Given the description of an element on the screen output the (x, y) to click on. 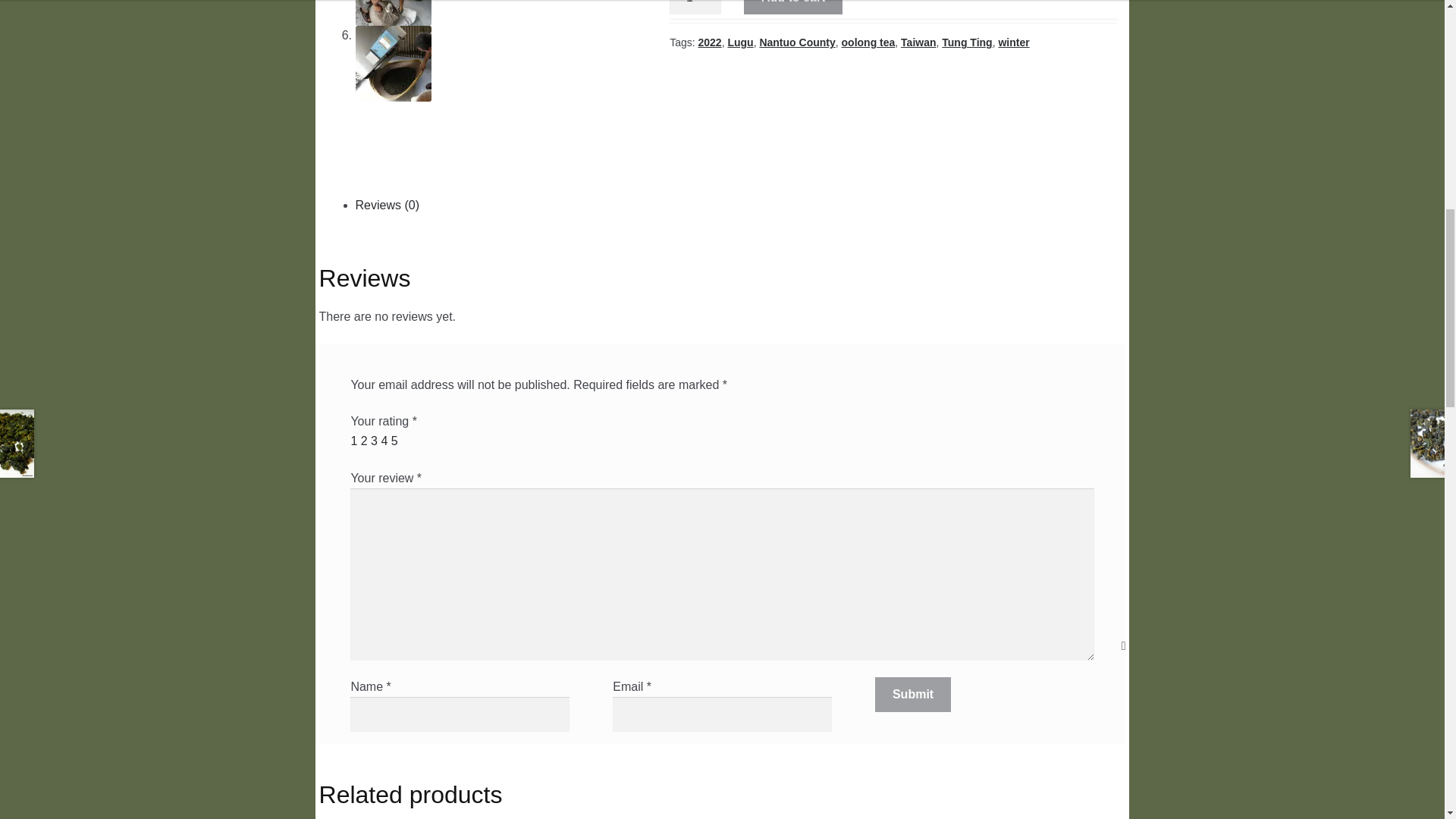
Taiwan (918, 42)
Lugu (739, 42)
2022 (708, 42)
1 (694, 7)
Nantuo County (796, 42)
Submit (912, 694)
Add to cart (793, 7)
oolong tea (868, 42)
